Given the description of an element on the screen output the (x, y) to click on. 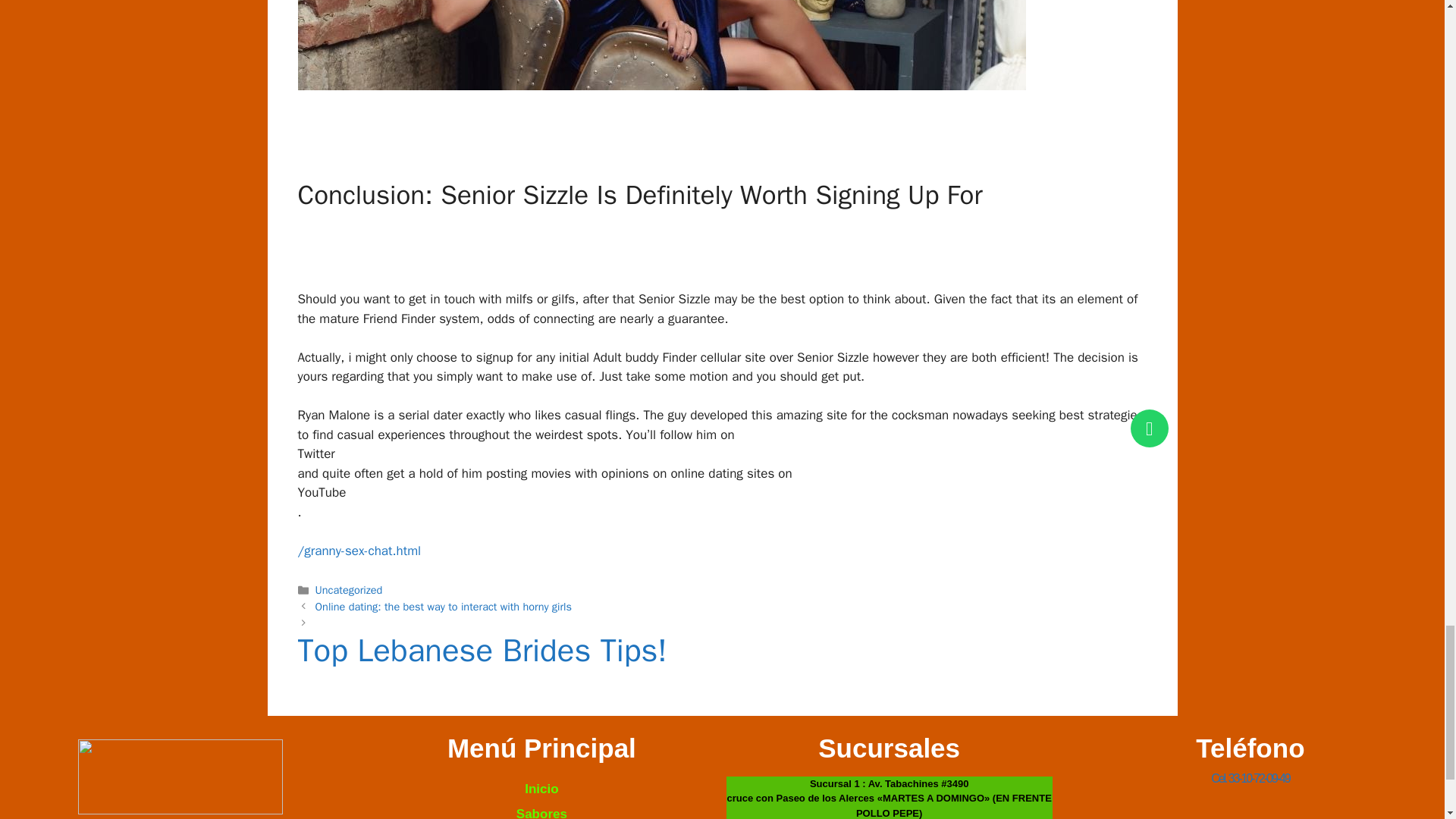
Anterior (443, 606)
Top Lebanese Brides Tips! (722, 658)
Sabores (541, 810)
Cel. 33-10-72-09-49 (1249, 778)
Inicio (541, 788)
Siguiente (722, 658)
Online dating: the best way to interact with horny girls (443, 606)
Uncategorized (348, 590)
